Given the description of an element on the screen output the (x, y) to click on. 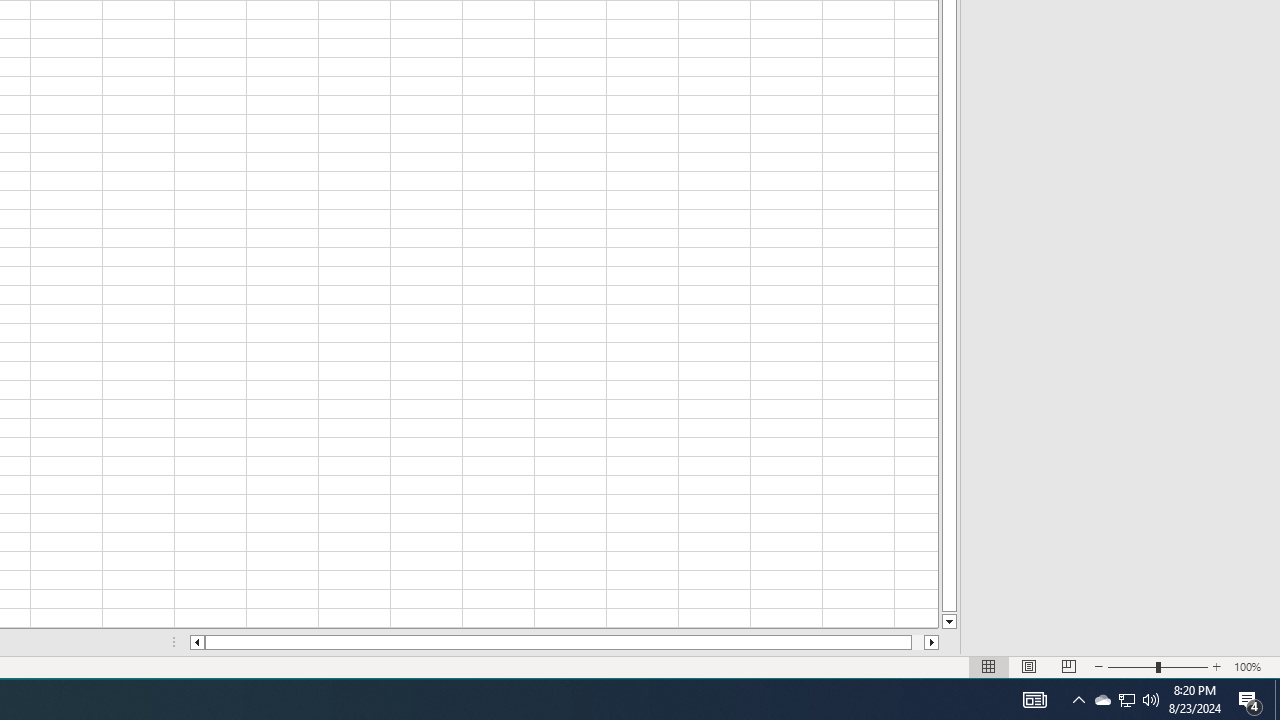
Notification Chevron (1078, 699)
Zoom In (1217, 667)
Normal (988, 667)
Column left (196, 642)
Page right (917, 642)
Line down (948, 622)
Class: NetUIScrollBar (564, 642)
User Promoted Notification Area (1126, 699)
Q2790: 100% (1151, 699)
Show desktop (1102, 699)
Column right (1277, 699)
Action Center, 4 new notifications (1126, 699)
